Given the description of an element on the screen output the (x, y) to click on. 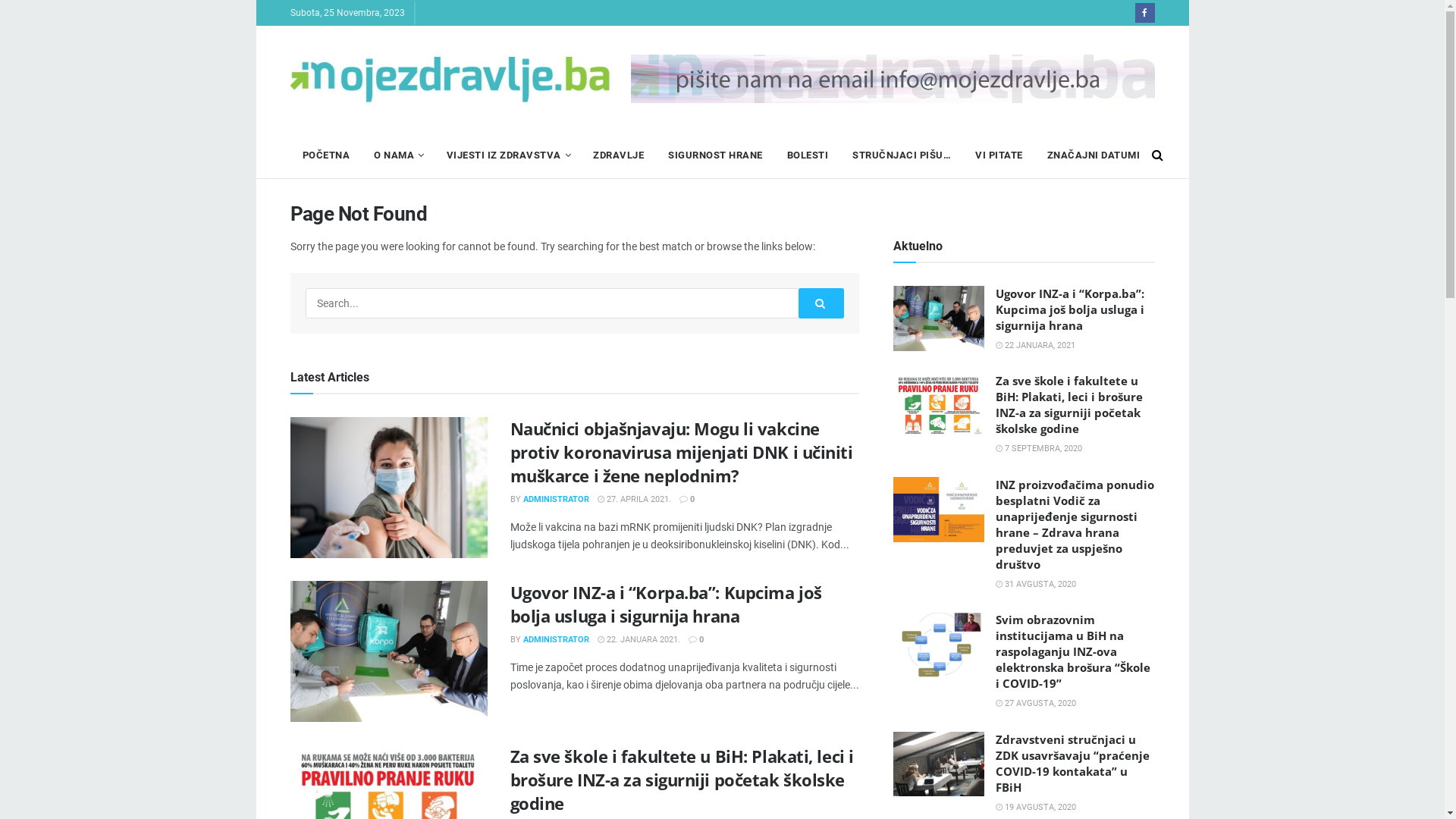
BOLESTI Element type: text (807, 154)
0 Element type: text (695, 639)
VIJESTI IZ ZDRAVSTVA Element type: text (506, 154)
27 AVGUSTA, 2020 Element type: text (1034, 703)
O NAMA Element type: text (397, 154)
0 Element type: text (686, 499)
VI PITATE Element type: text (999, 154)
7 SEPTEMBRA, 2020 Element type: text (1037, 448)
31 AVGUSTA, 2020 Element type: text (1034, 584)
SIGURNOST HRANE Element type: text (715, 154)
22 JANUARA, 2021 Element type: text (1034, 345)
ADMINISTRATOR Element type: text (556, 639)
ADMINISTRATOR Element type: text (556, 499)
ZDRAVLJE Element type: text (617, 154)
27. APRILA 2021. Element type: text (634, 499)
22. JANUARA 2021. Element type: text (638, 639)
19 AVGUSTA, 2020 Element type: text (1034, 807)
